Given the description of an element on the screen output the (x, y) to click on. 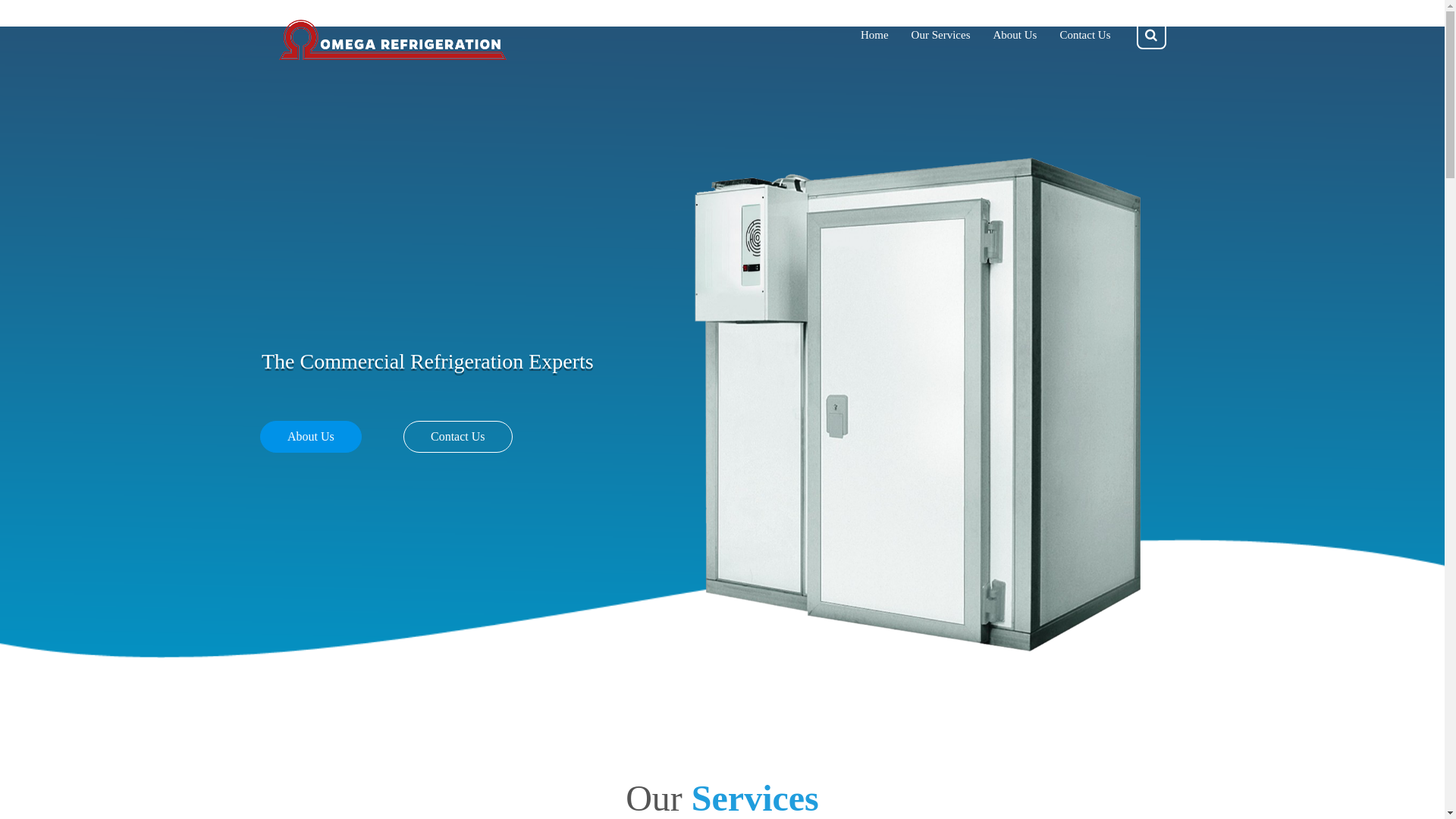
Our Services Element type: text (940, 34)
Contact Us Element type: text (1084, 34)
About Us Element type: text (1015, 34)
Home Element type: text (874, 34)
